Given the description of an element on the screen output the (x, y) to click on. 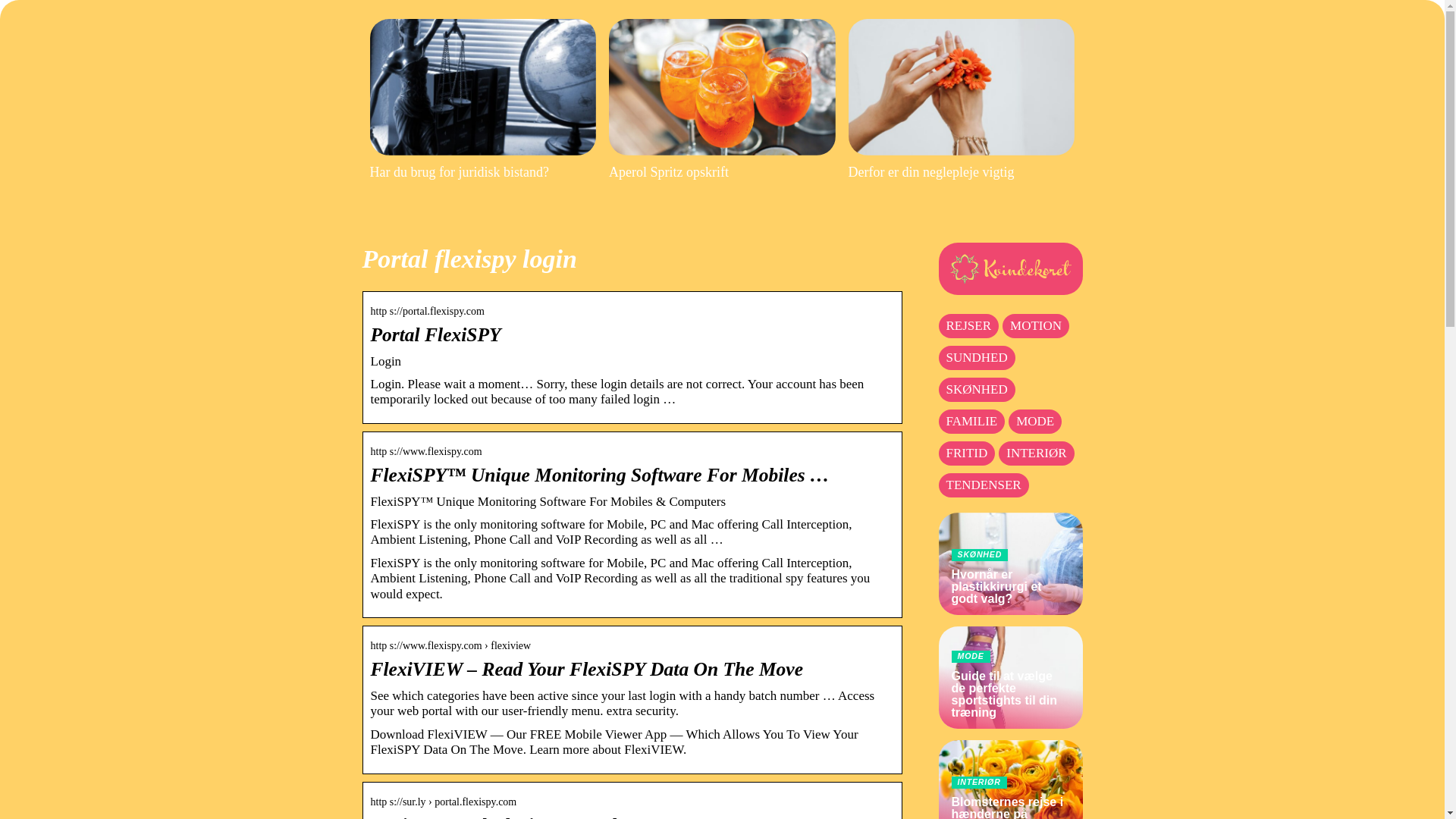
Har du brug for juridisk bistand? (482, 98)
Aperol Spritz opskrift (721, 98)
Derfor er din neglepleje vigtig (961, 98)
